Given the description of an element on the screen output the (x, y) to click on. 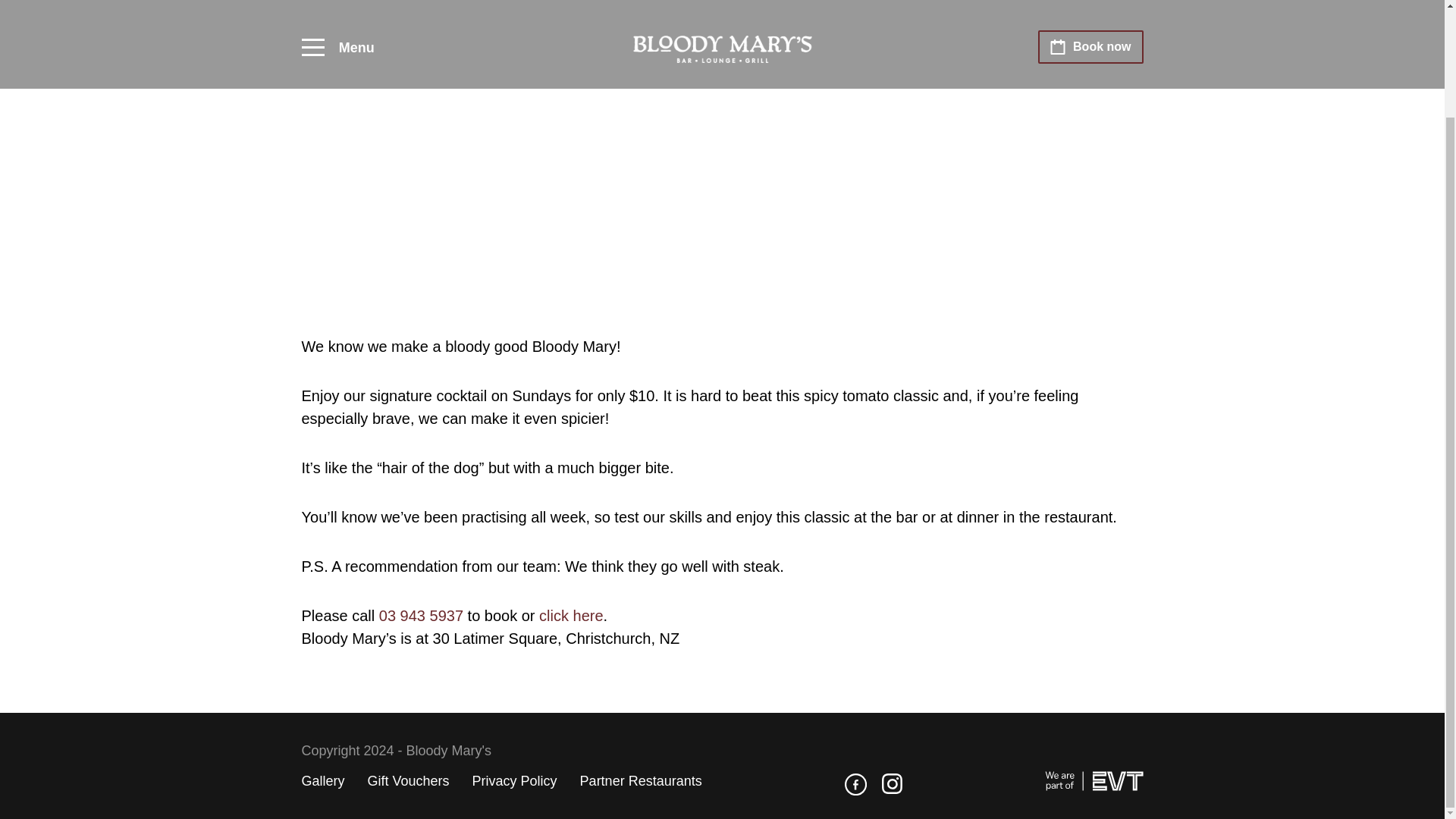
Gift Vouchers (408, 780)
Gallery (323, 780)
Partner Restaurants (640, 780)
03 943 5937 (420, 615)
click here (570, 615)
Privacy Policy (514, 780)
